Given the description of an element on the screen output the (x, y) to click on. 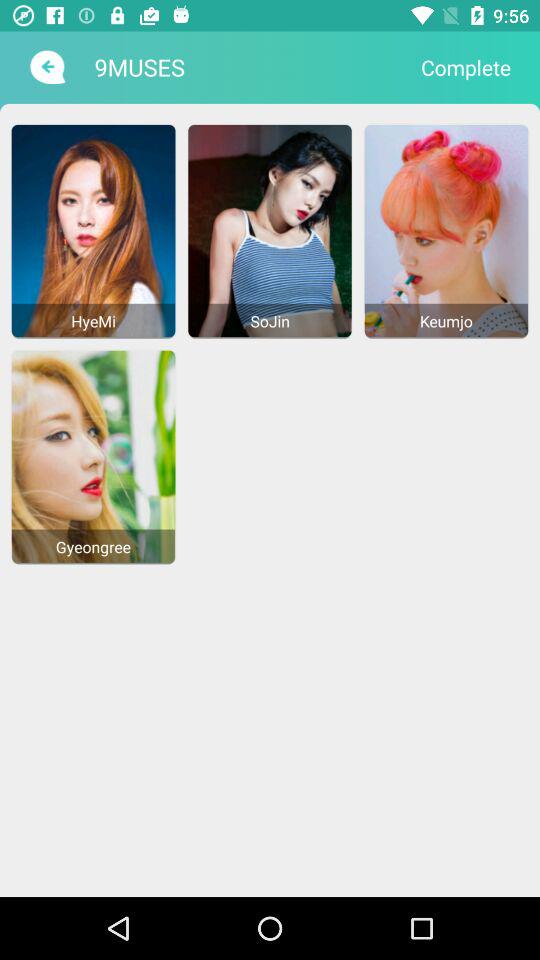
open the complete icon (465, 67)
